Given the description of an element on the screen output the (x, y) to click on. 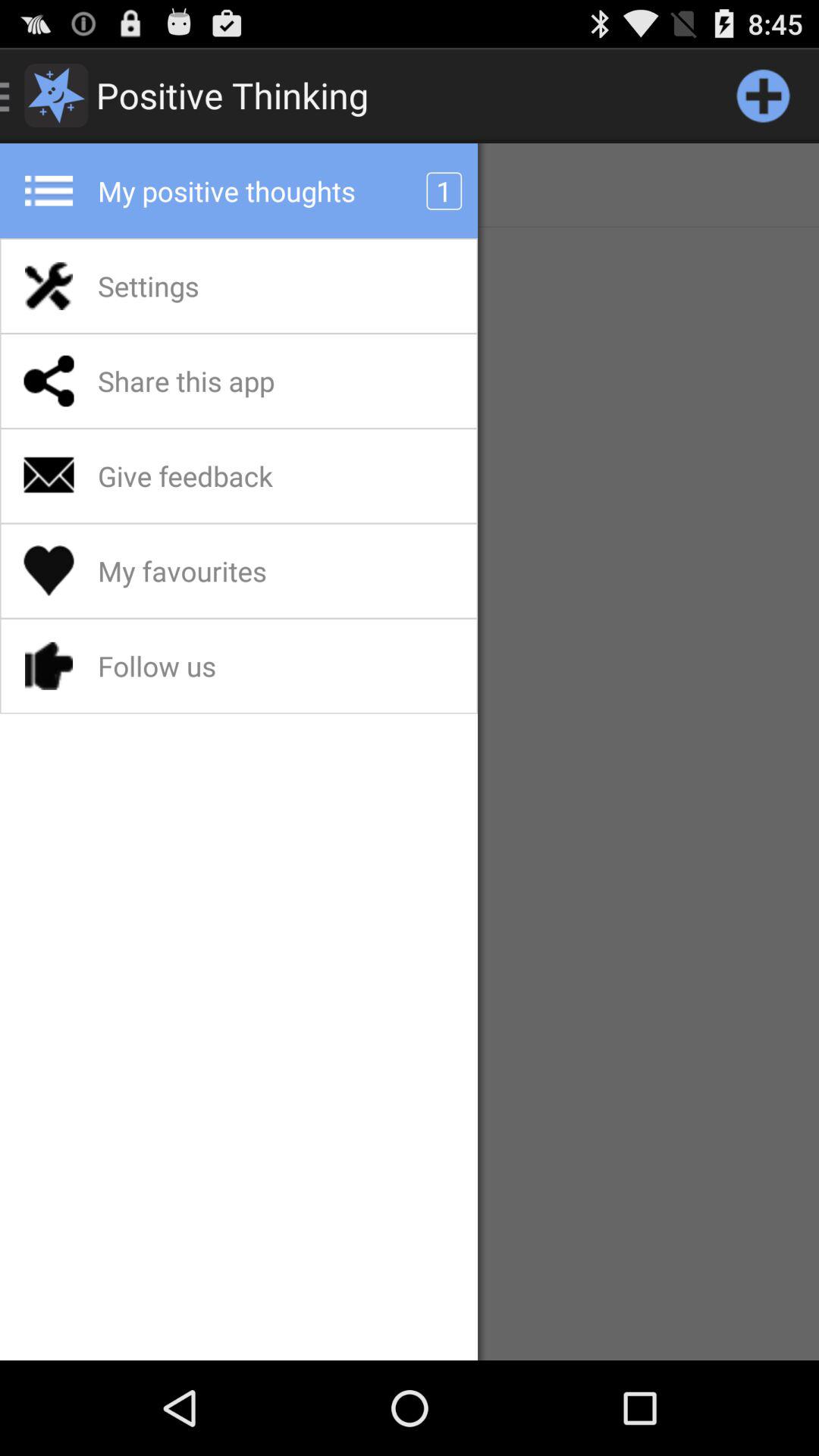
choose item to the right of my positive thoughts (763, 95)
